Given the description of an element on the screen output the (x, y) to click on. 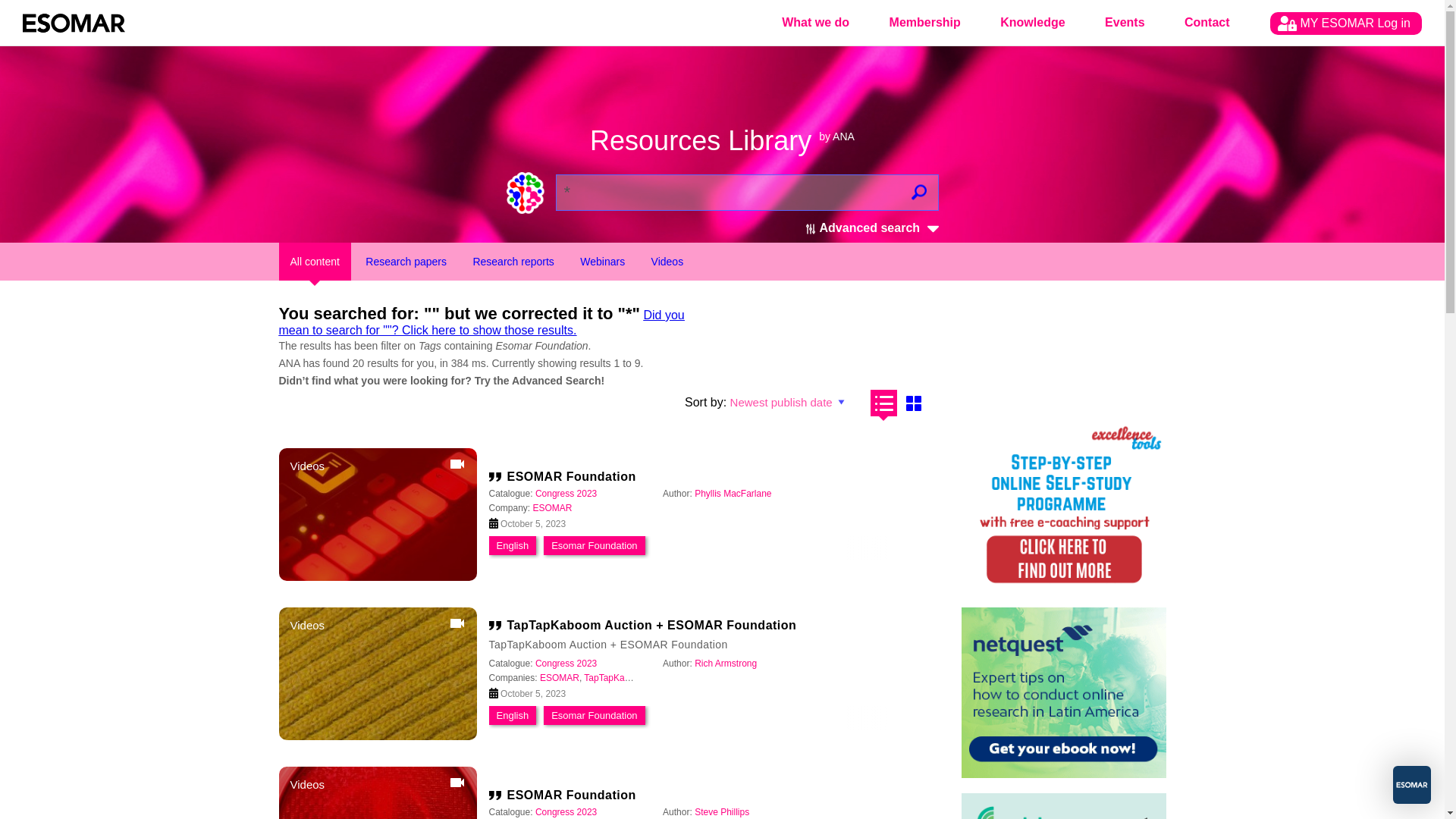
English (512, 545)
MY ESOMAR Log in (1345, 23)
Contact (1206, 22)
Webinars (602, 260)
Congress 2023 (565, 493)
Congress 2023 (565, 493)
Esomar Foundation (594, 545)
TapTapKaboom (614, 677)
Phyllis MacFarlane (732, 493)
Research papers (405, 260)
Get a citation. (496, 625)
Research reports (512, 261)
Knowledge (1032, 22)
Congress 2023 (565, 663)
Events (1123, 22)
